Given the description of an element on the screen output the (x, y) to click on. 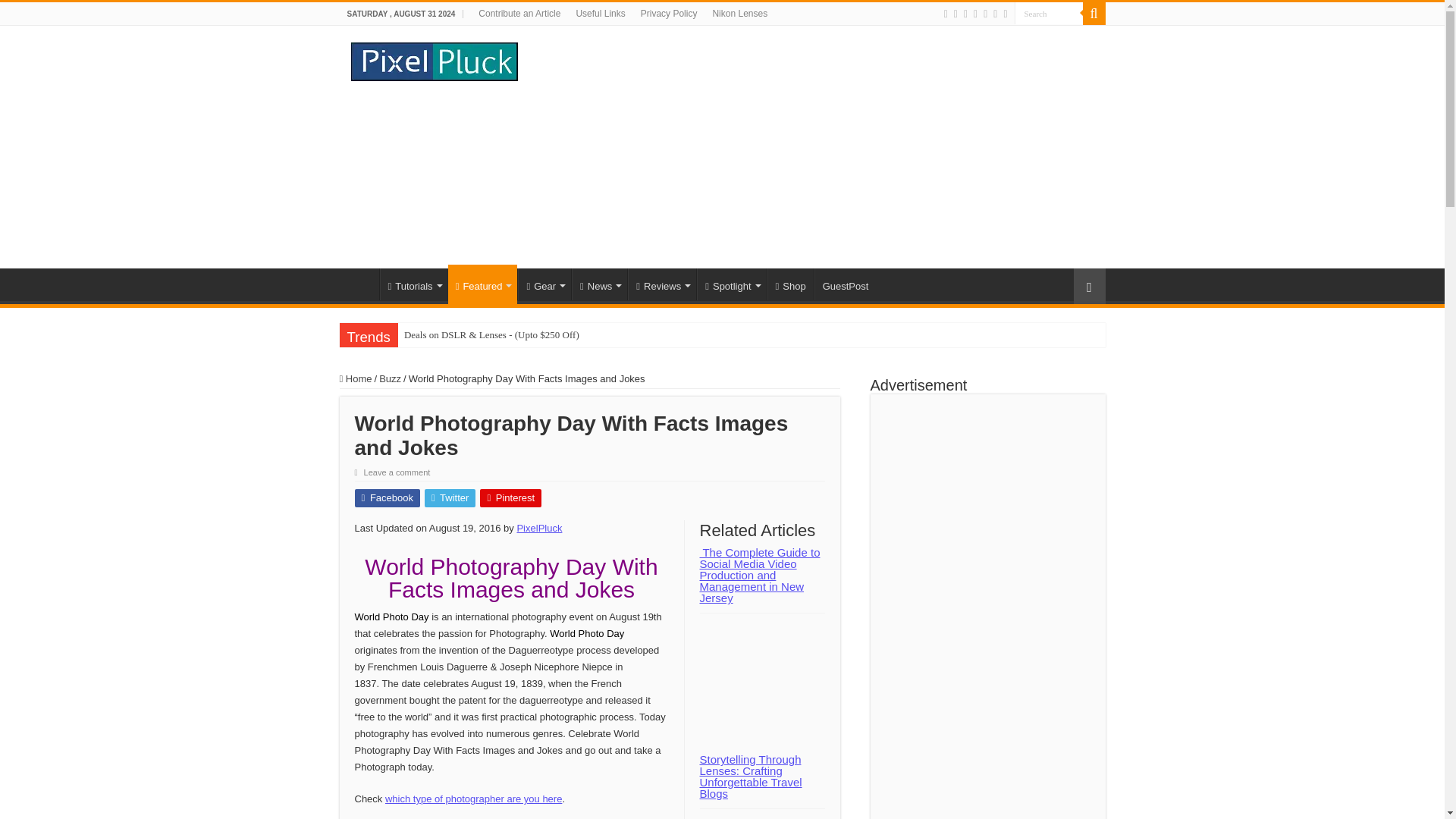
Featured (483, 283)
Search (1048, 13)
Tutorials (412, 284)
Useful Links (599, 13)
Search (1048, 13)
Nikon Lenses (739, 13)
Contribute an Article (518, 13)
Home (358, 284)
Search (1094, 13)
Search (1048, 13)
